Given the description of an element on the screen output the (x, y) to click on. 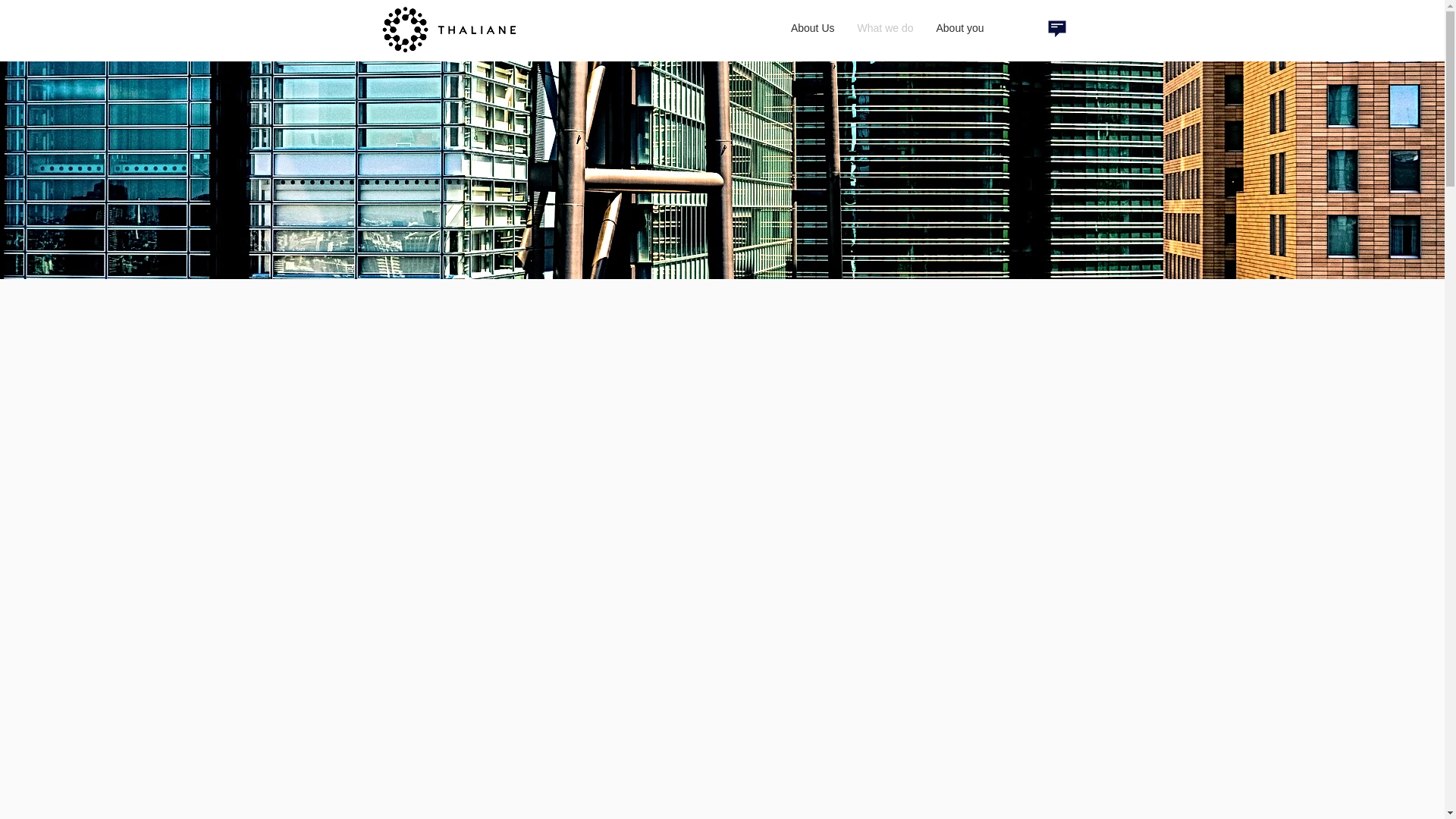
About you (959, 28)
What we do (884, 28)
About Us (811, 28)
